Given the description of an element on the screen output the (x, y) to click on. 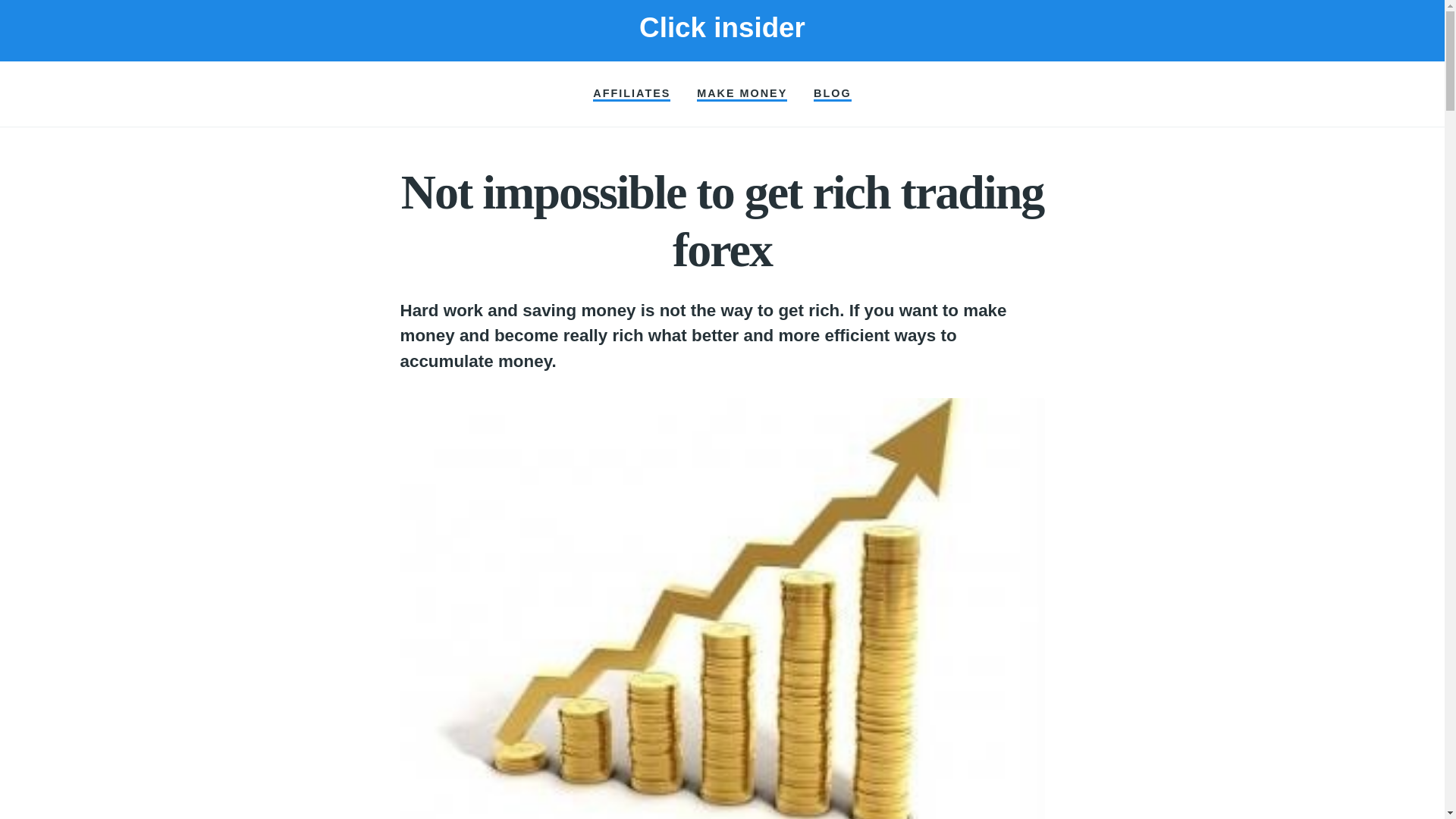
MAKE MONEY (742, 93)
BLOG (832, 93)
Click insider (722, 27)
AFFILIATES (630, 93)
